Given the description of an element on the screen output the (x, y) to click on. 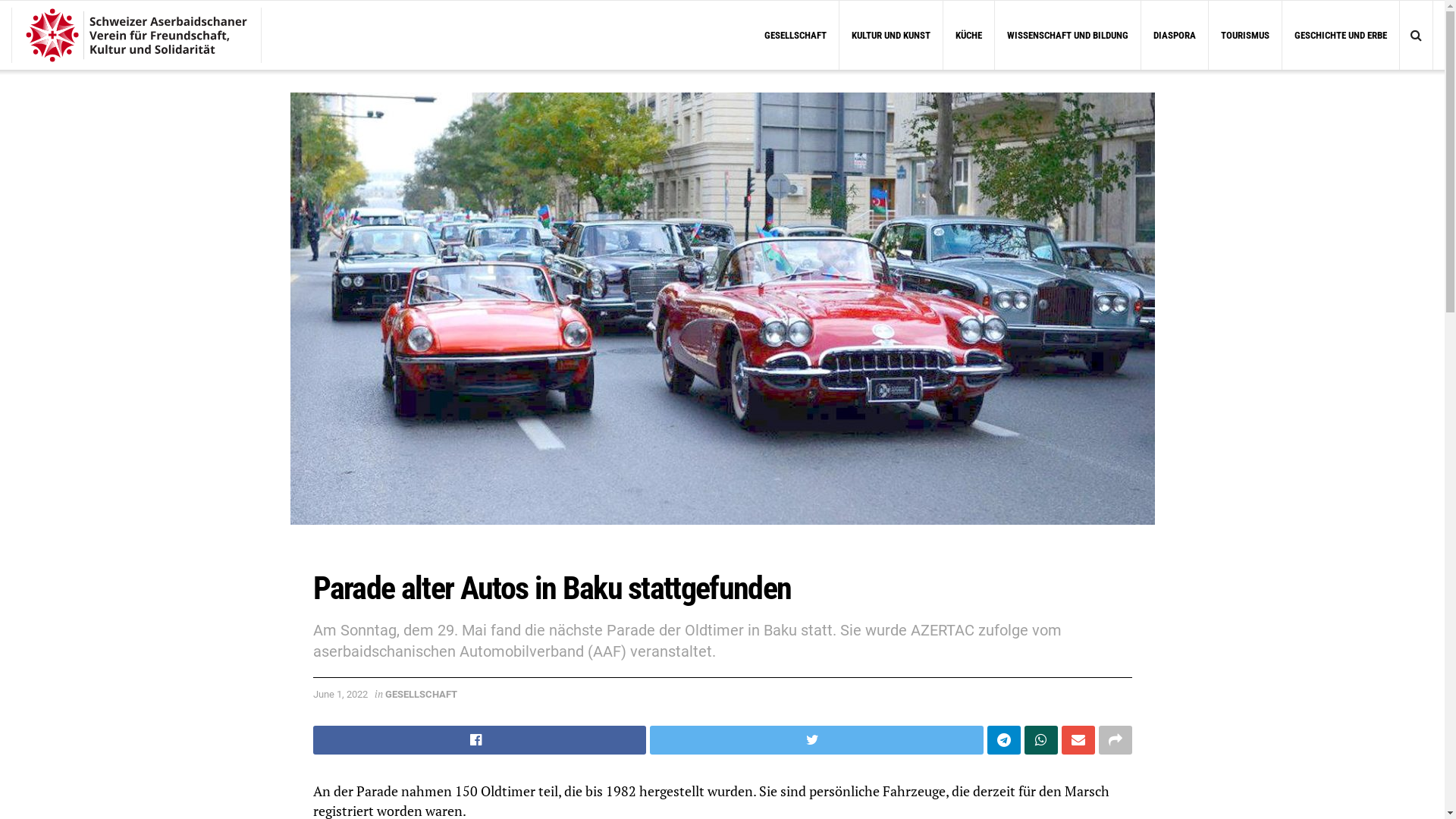
DIASPORA Element type: text (1174, 34)
GESELLSCHAFT Element type: text (421, 693)
TOURISMUS Element type: text (1244, 34)
GESCHICHTE UND ERBE Element type: text (1340, 34)
KULTUR UND KUNST Element type: text (890, 34)
June 1, 2022 Element type: text (339, 693)
WISSENSCHAFT UND BILDUNG Element type: text (1067, 34)
GESELLSCHAFT Element type: text (795, 34)
